Given the description of an element on the screen output the (x, y) to click on. 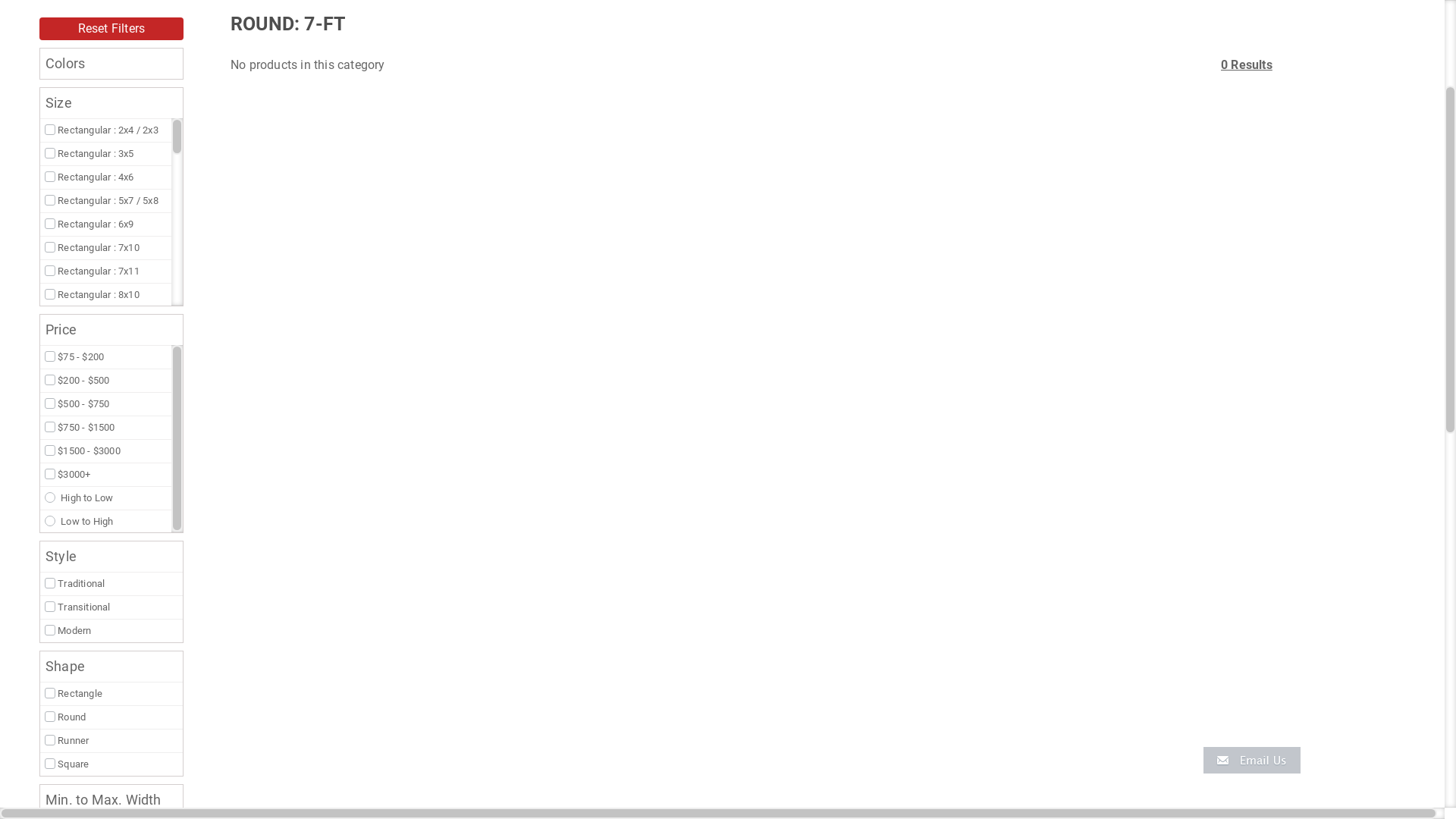
Twitter Element type: hover (180, 89)
Videos Element type: text (943, 170)
Instagram Element type: hover (218, 89)
Go Element type: text (803, 80)
Shop Element type: text (136, 170)
Cleaning & Care Guide Element type: text (233, 128)
1800getarug Handmade Persian and Oriental Rugs Element type: hover (54, 81)
PreHolidays Rug Sale - Save 20% with Coupon Code Holiday23 Element type: text (722, 15)
Schedule a Video Call/Facetime Element type: text (716, 170)
5 of 5
601 reviews Element type: text (1030, 87)
Size Element type: text (292, 170)
Colors Element type: text (247, 170)
Rug Pads Element type: text (611, 170)
Collections Element type: text (188, 170)
Custom Rugs Element type: text (463, 170)
More Element type: text (1025, 170)
Cart Element type: text (1424, 171)
Account Element type: text (1386, 171)
Gift Certificates Element type: text (541, 170)
Blogs Element type: text (984, 170)
TEL: 201-933-4300 Element type: text (1269, 74)
E-mail: Info@1800getarug.com Element type: text (1269, 88)
Oriental Rug Services Element type: text (368, 170)
Hours of Operation & Showroom/Warehouse Address Element type: text (1269, 112)
My Account Element type: hover (1386, 165)
View Your Cart Element type: hover (1423, 165)
Facebook Element type: hover (160, 89)
Pinterest Element type: hover (199, 88)
Gallery Element type: text (818, 170)
Home Element type: text (24, 170)
Reset Filters Element type: text (111, 227)
eKomi gold seal Award Element type: hover (947, 85)
Visual Search Element type: text (81, 170)
Special Offers Element type: text (883, 170)
Schedule A Live Video Call Element type: text (233, 108)
